Given the description of an element on the screen output the (x, y) to click on. 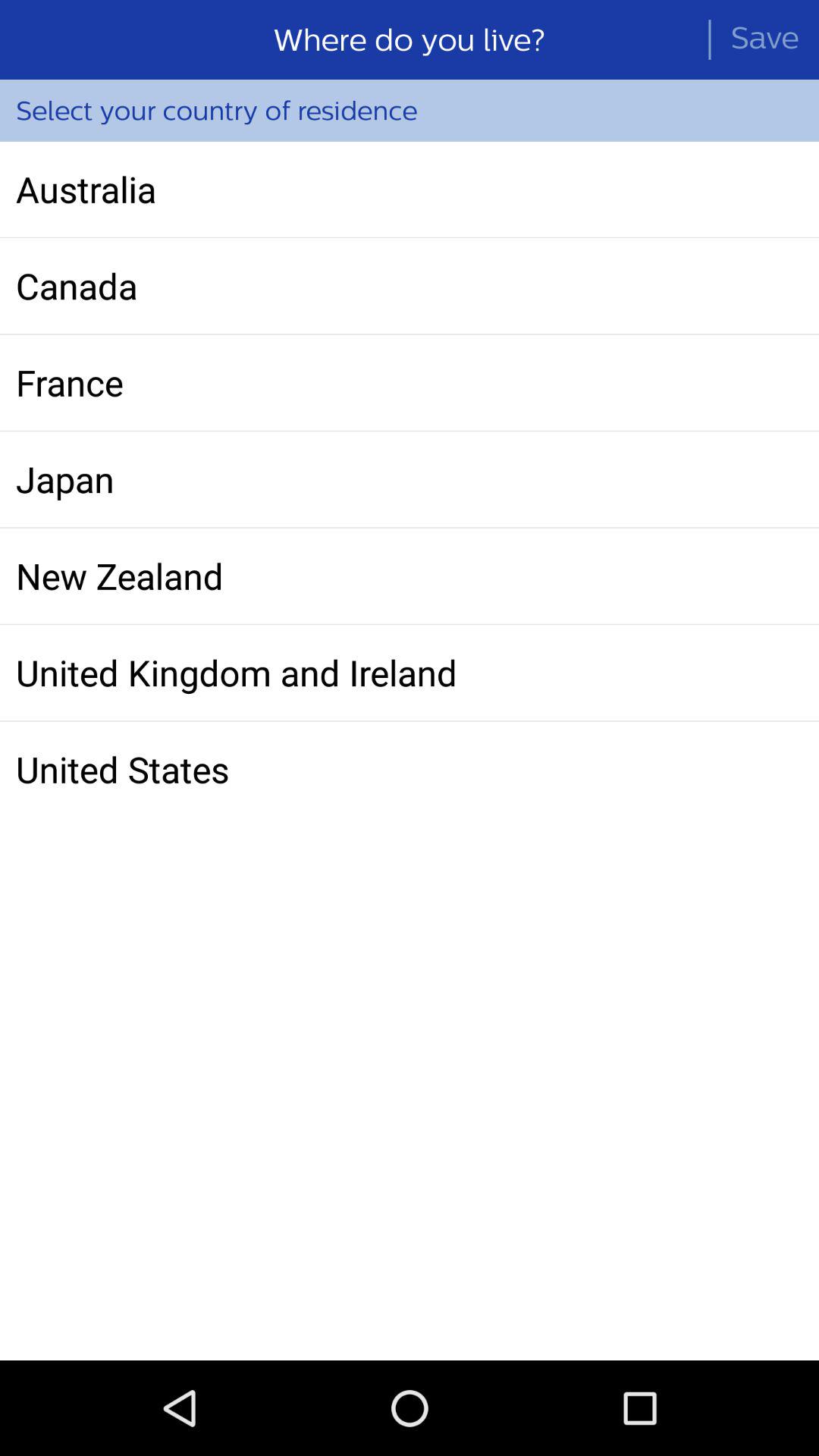
turn on icon below france item (409, 479)
